Given the description of an element on the screen output the (x, y) to click on. 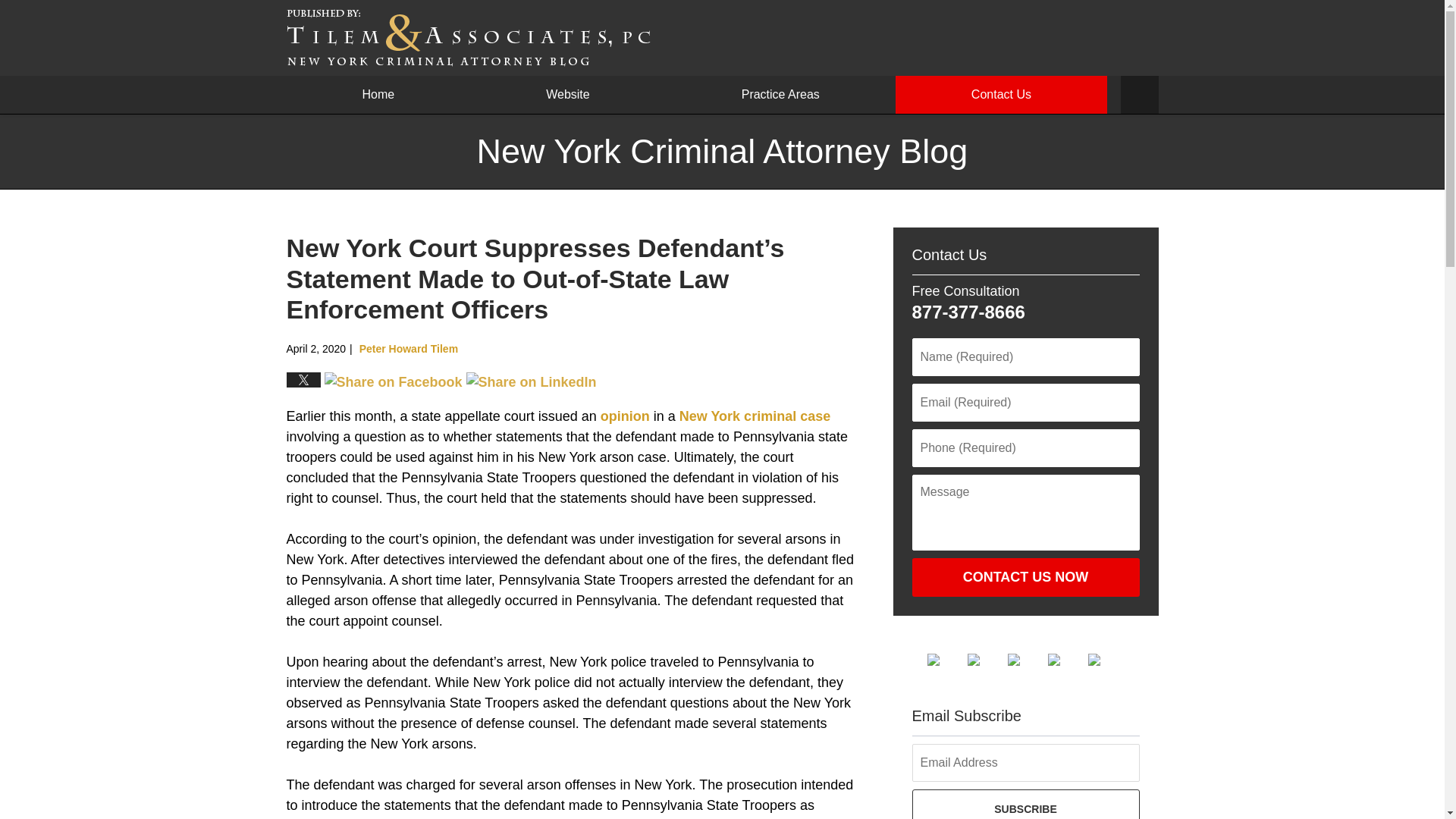
Practice Areas (780, 94)
Twitter (986, 659)
Please enter a valid phone number. (1024, 447)
New York Criminal Attorney Blog (468, 37)
opinion (624, 416)
Justia (1066, 659)
Peter Howard Tilem (408, 348)
LinkedIn (1025, 659)
Facebook (944, 659)
SUBSCRIBE (1024, 804)
